Given the description of an element on the screen output the (x, y) to click on. 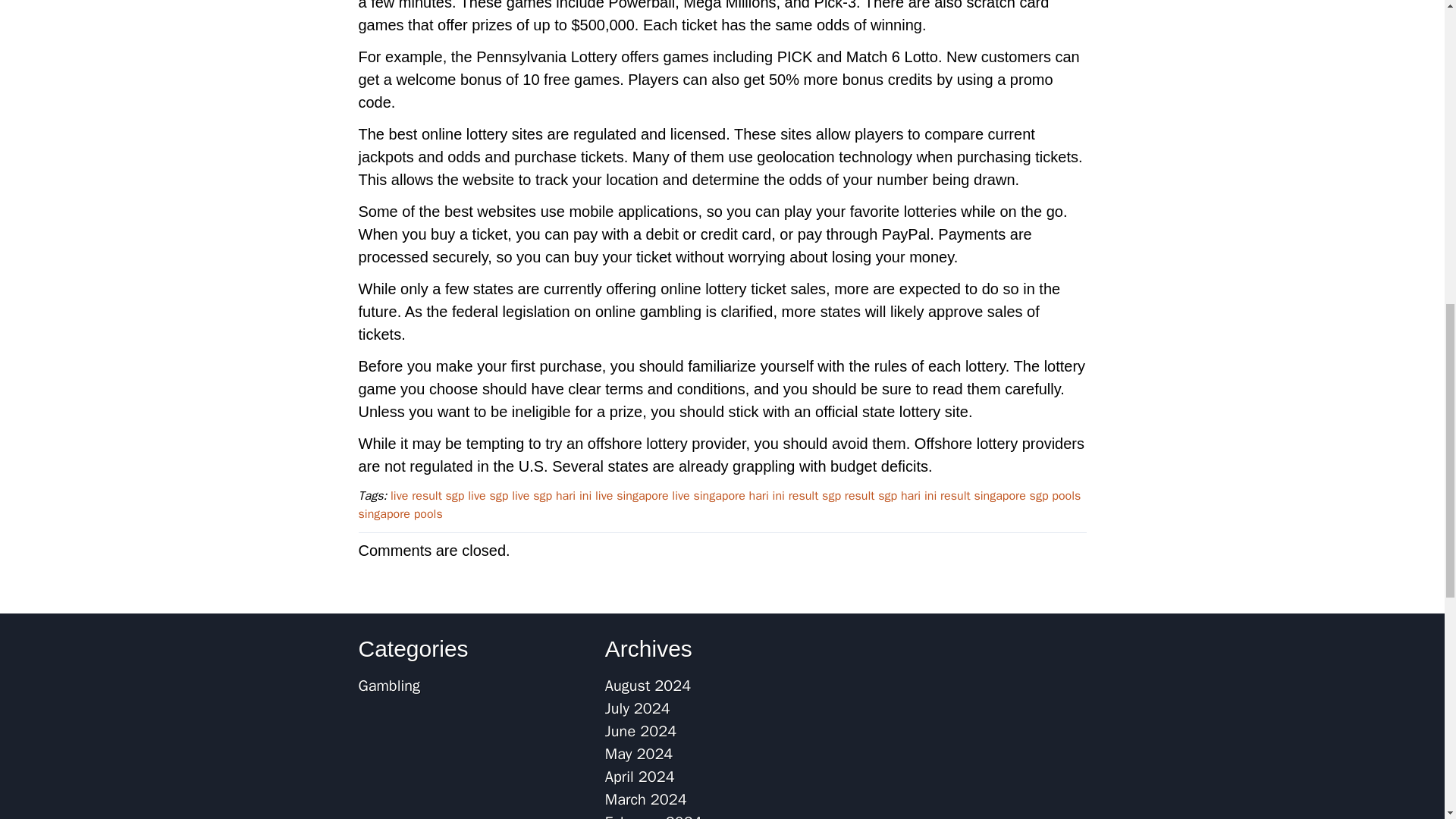
live singapore hari ini (727, 495)
result singapore (983, 495)
March 2024 (646, 799)
August 2024 (648, 685)
result sgp (815, 495)
April 2024 (640, 776)
singapore pools (400, 513)
live singapore (631, 495)
live sgp hari ini (551, 495)
February 2024 (653, 816)
